Given the description of an element on the screen output the (x, y) to click on. 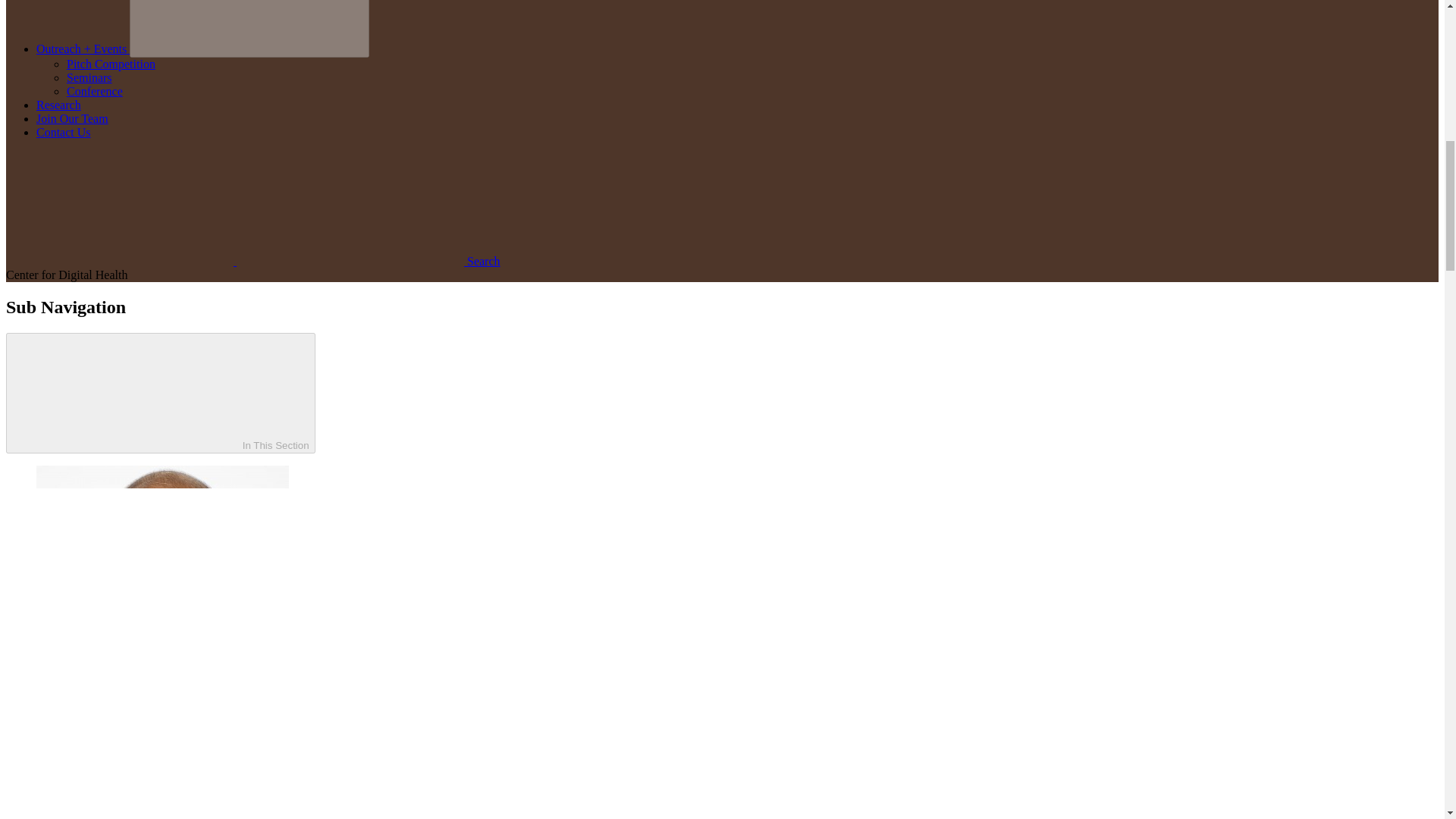
In This Section (160, 392)
Contact Us (63, 132)
Pitch Competition (110, 63)
Conference (94, 91)
Search (252, 260)
Research (58, 104)
Join Our Team (71, 118)
Seminars (89, 77)
